Given the description of an element on the screen output the (x, y) to click on. 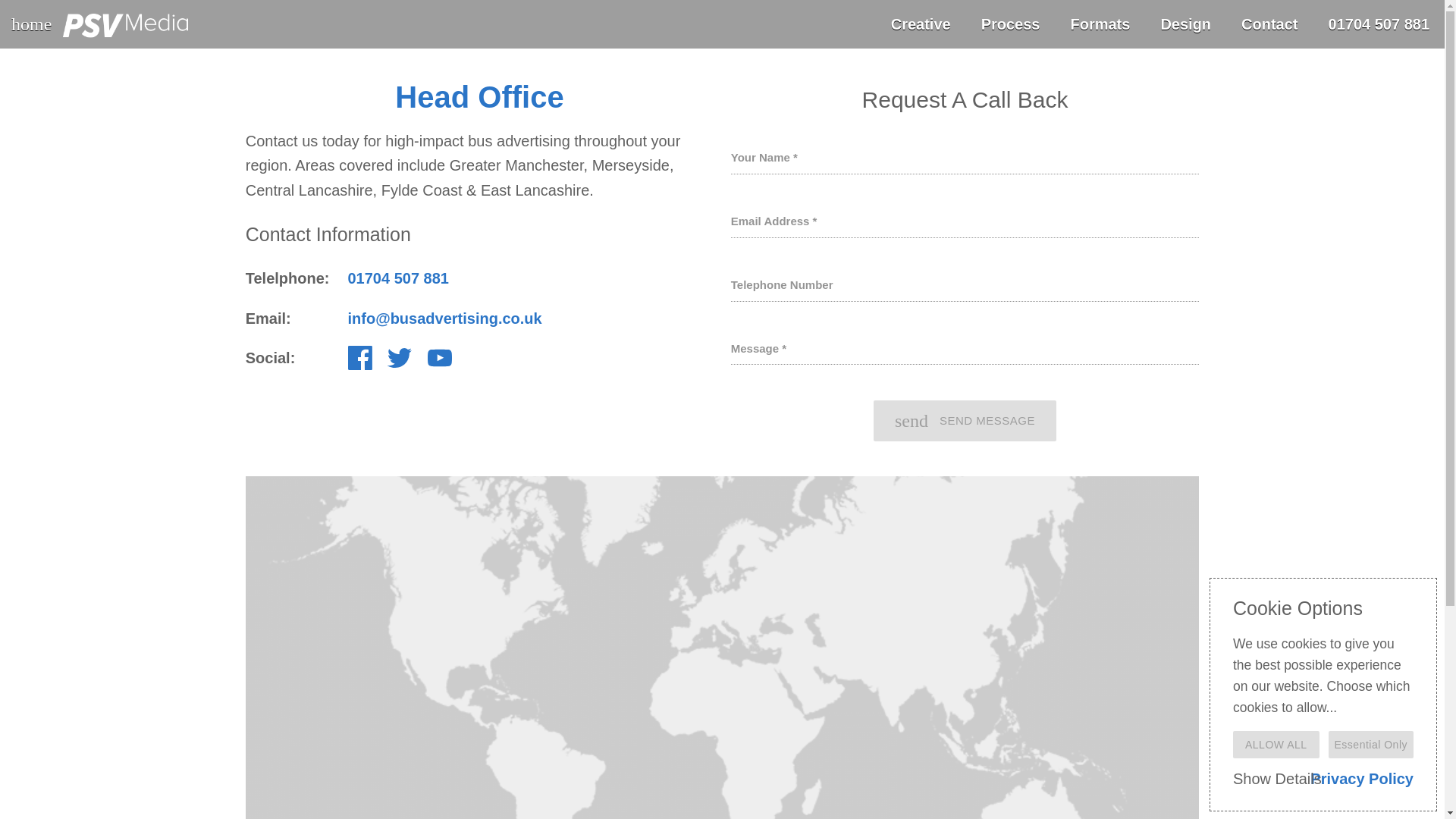
Twitter (399, 357)
home (130, 23)
Contact (1269, 24)
Process (1010, 24)
Design (1184, 24)
Youtube (439, 357)
01704 507 881 (965, 420)
Twitter (397, 278)
Privacy Policy (399, 364)
Creative (1361, 778)
Essential Only (921, 24)
Youtube (1370, 744)
Facebook (439, 364)
Formats (359, 357)
